Given the description of an element on the screen output the (x, y) to click on. 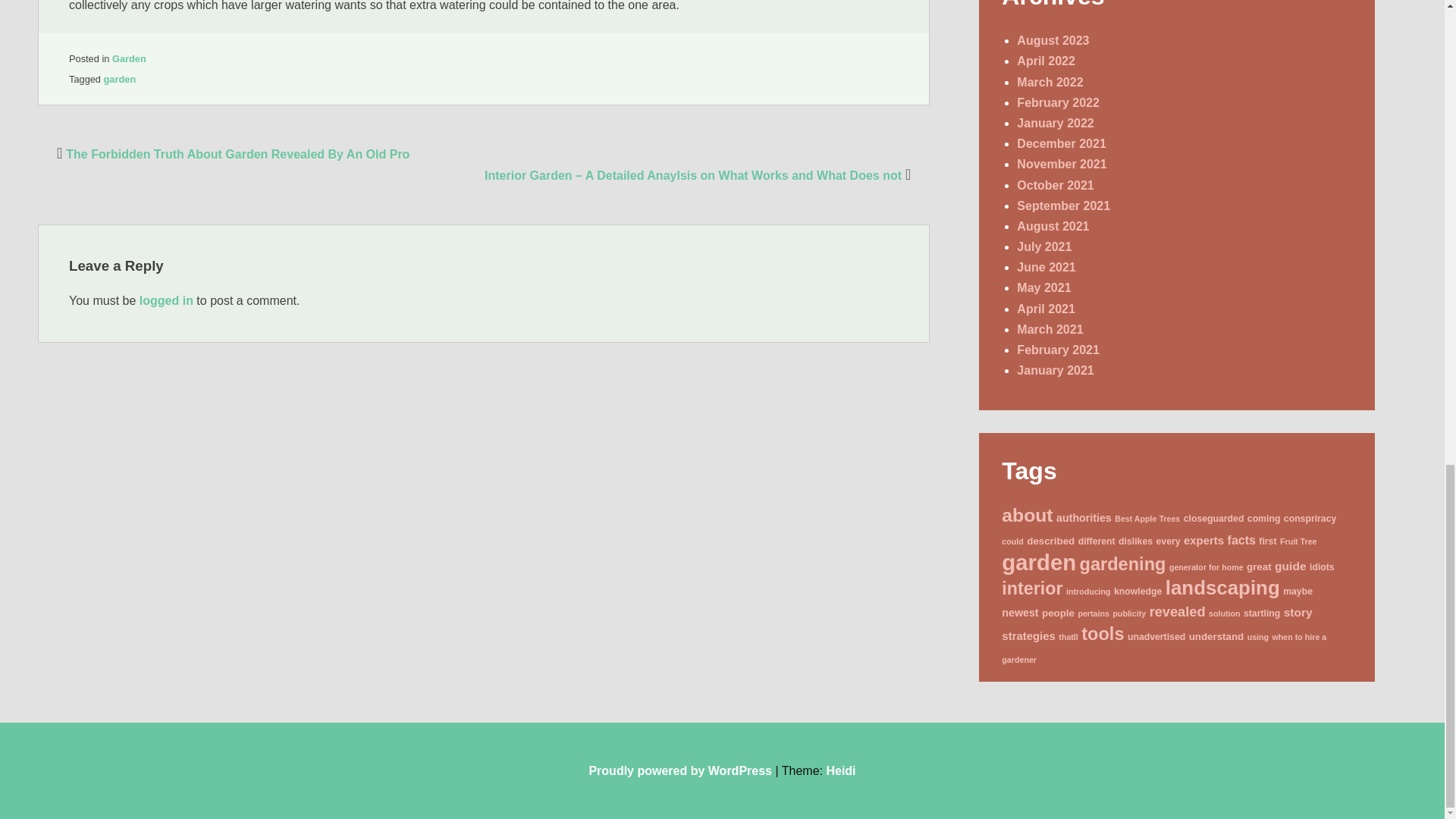
logged in (166, 300)
September 2021 (1062, 205)
June 2021 (1045, 267)
Garden (129, 58)
April 2022 (1045, 60)
November 2021 (1061, 164)
December 2021 (1060, 143)
March 2022 (1049, 82)
February 2022 (1057, 102)
January 2022 (1054, 123)
July 2021 (1043, 246)
August 2021 (1052, 226)
The Forbidden Truth About Garden Revealed By An Old Pro (230, 154)
August 2023 (1052, 40)
October 2021 (1054, 185)
